Given the description of an element on the screen output the (x, y) to click on. 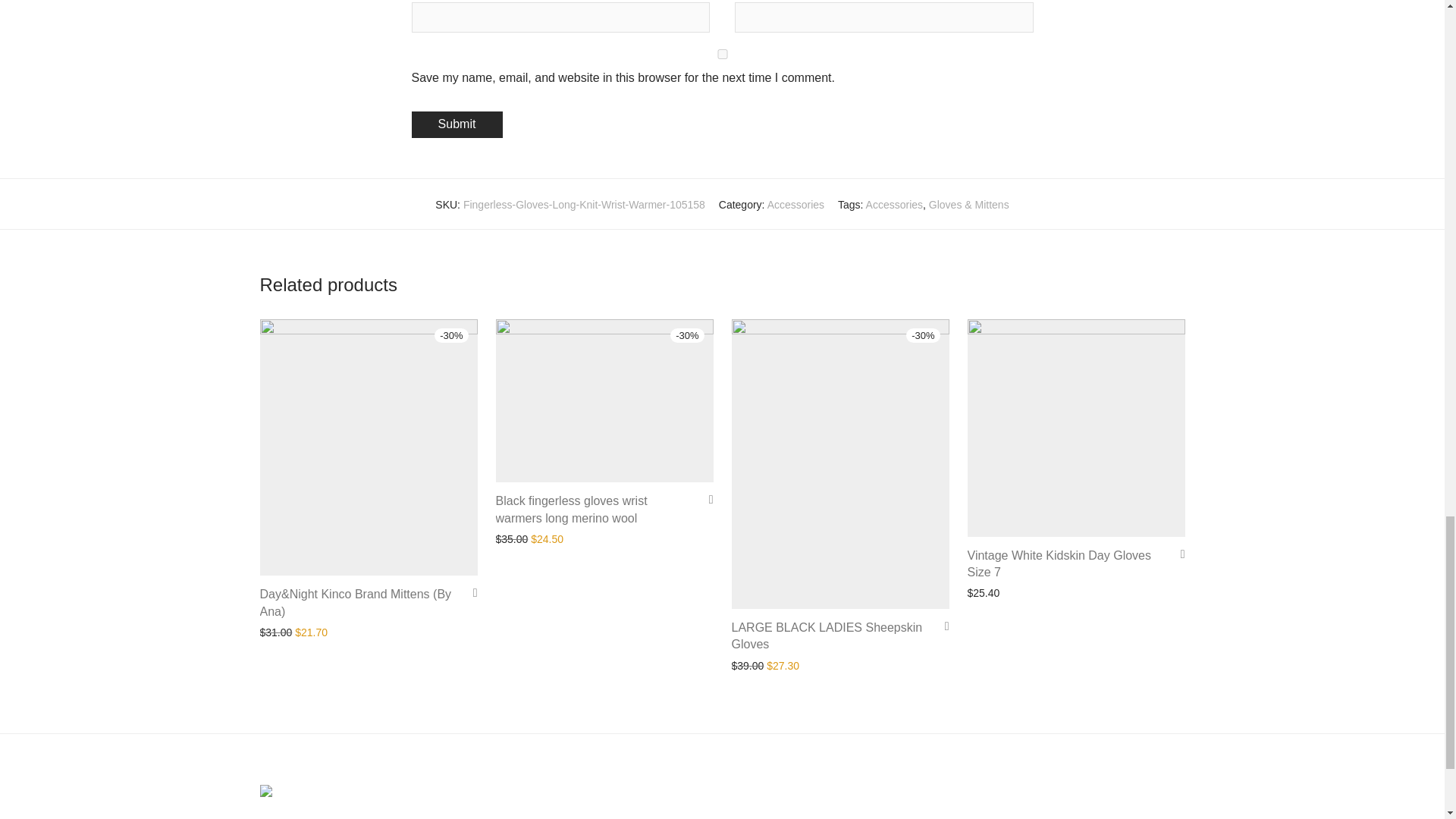
Black fingerless gloves wrist warmers long merino wool (571, 509)
Add to Wishlist (941, 625)
Submit (456, 124)
Add to Wishlist (705, 499)
Submit (456, 124)
Add to Wishlist (1177, 553)
Accessories (795, 204)
Accessories (894, 204)
yes (721, 53)
Add to Wishlist (470, 592)
